Given the description of an element on the screen output the (x, y) to click on. 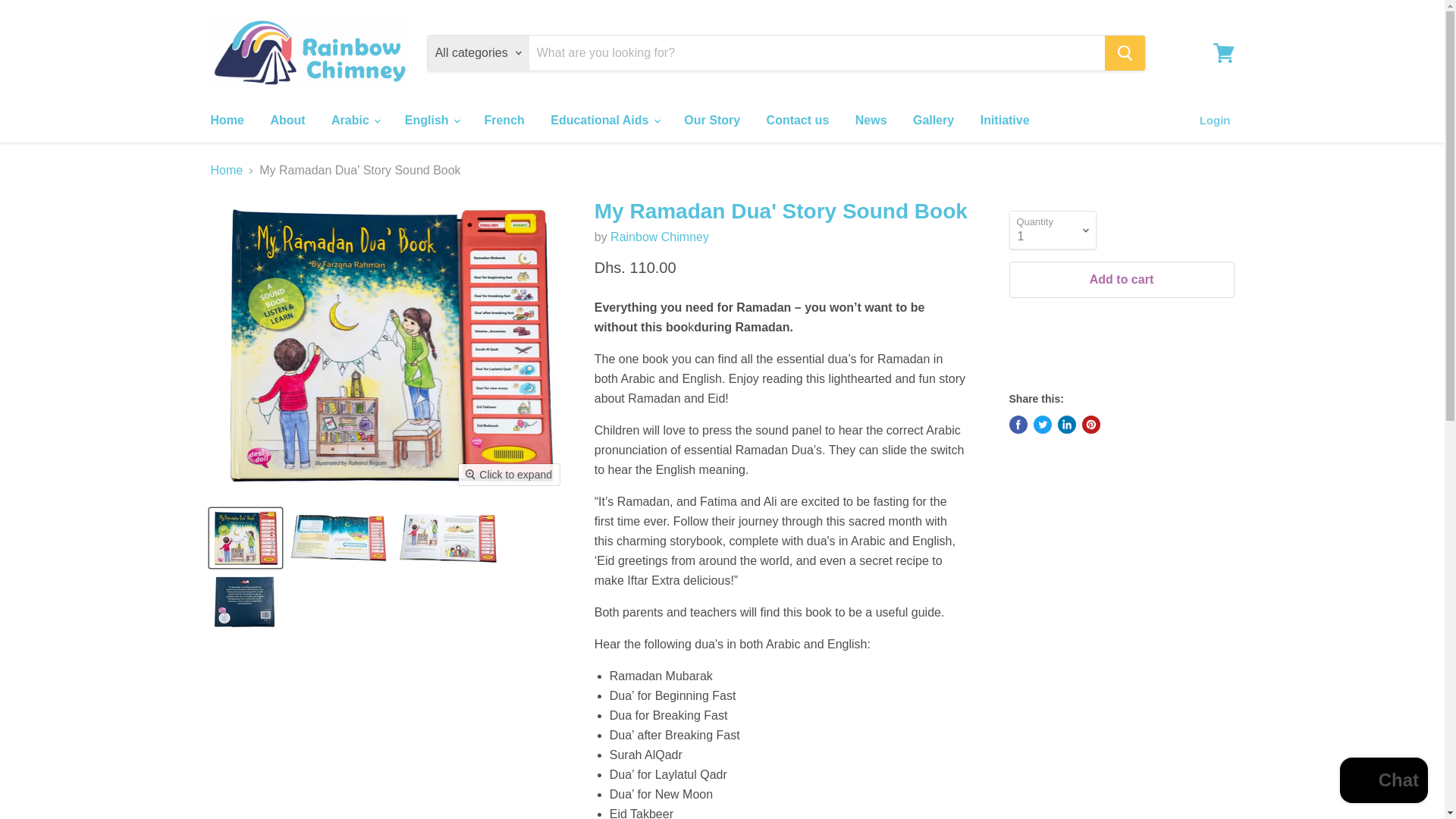
Home (226, 120)
Gallery (933, 120)
Arabic (355, 120)
Initiative (1005, 120)
News (871, 120)
About (287, 120)
View cart (1223, 53)
Rainbow Chimney (659, 236)
French (503, 120)
Our Story (711, 120)
